Given the description of an element on the screen output the (x, y) to click on. 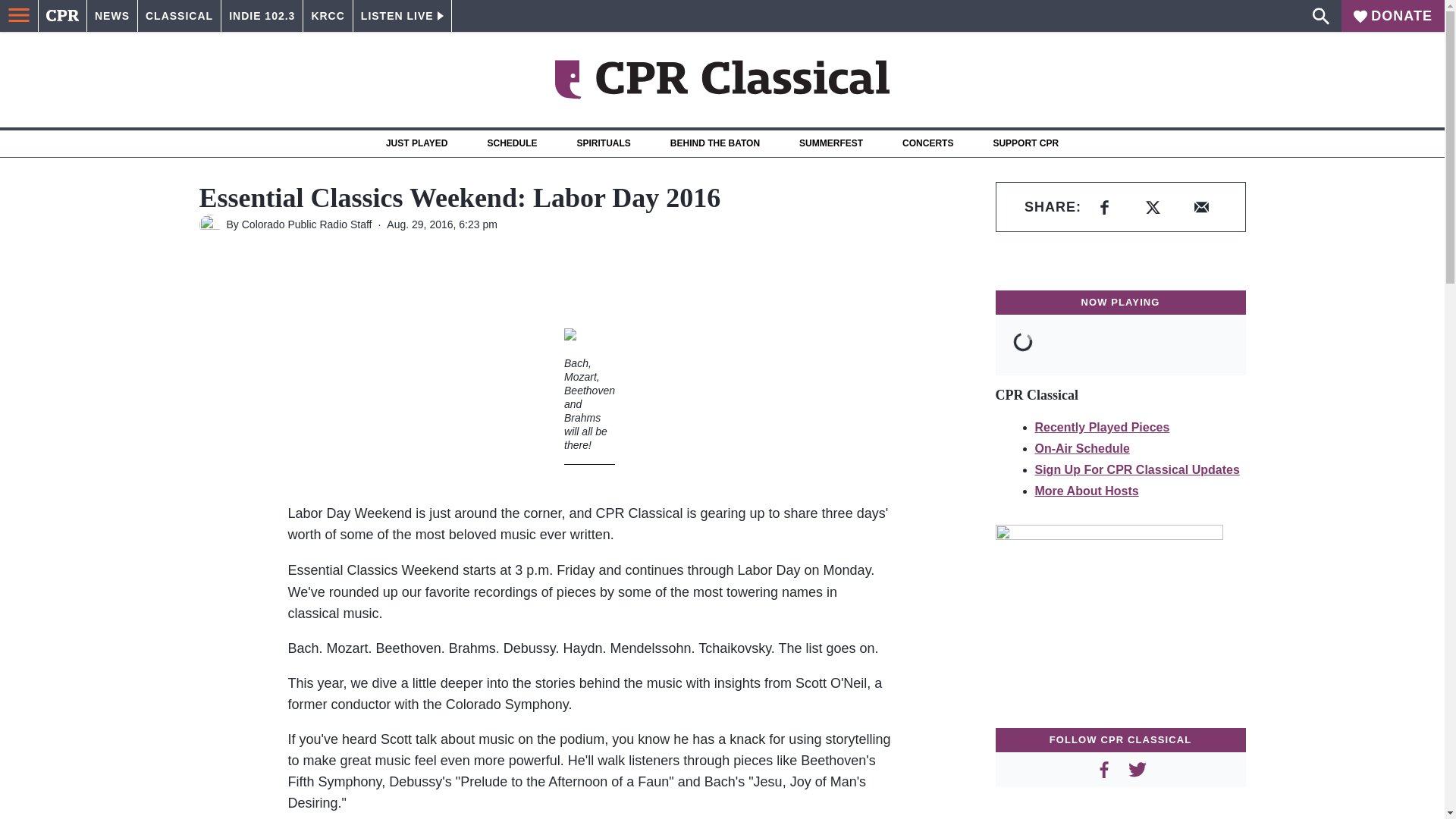
KRCC (327, 15)
CLASSICAL (179, 15)
INDIE 102.3 (261, 15)
LISTEN LIVE (402, 15)
NEWS (111, 15)
